Given the description of an element on the screen output the (x, y) to click on. 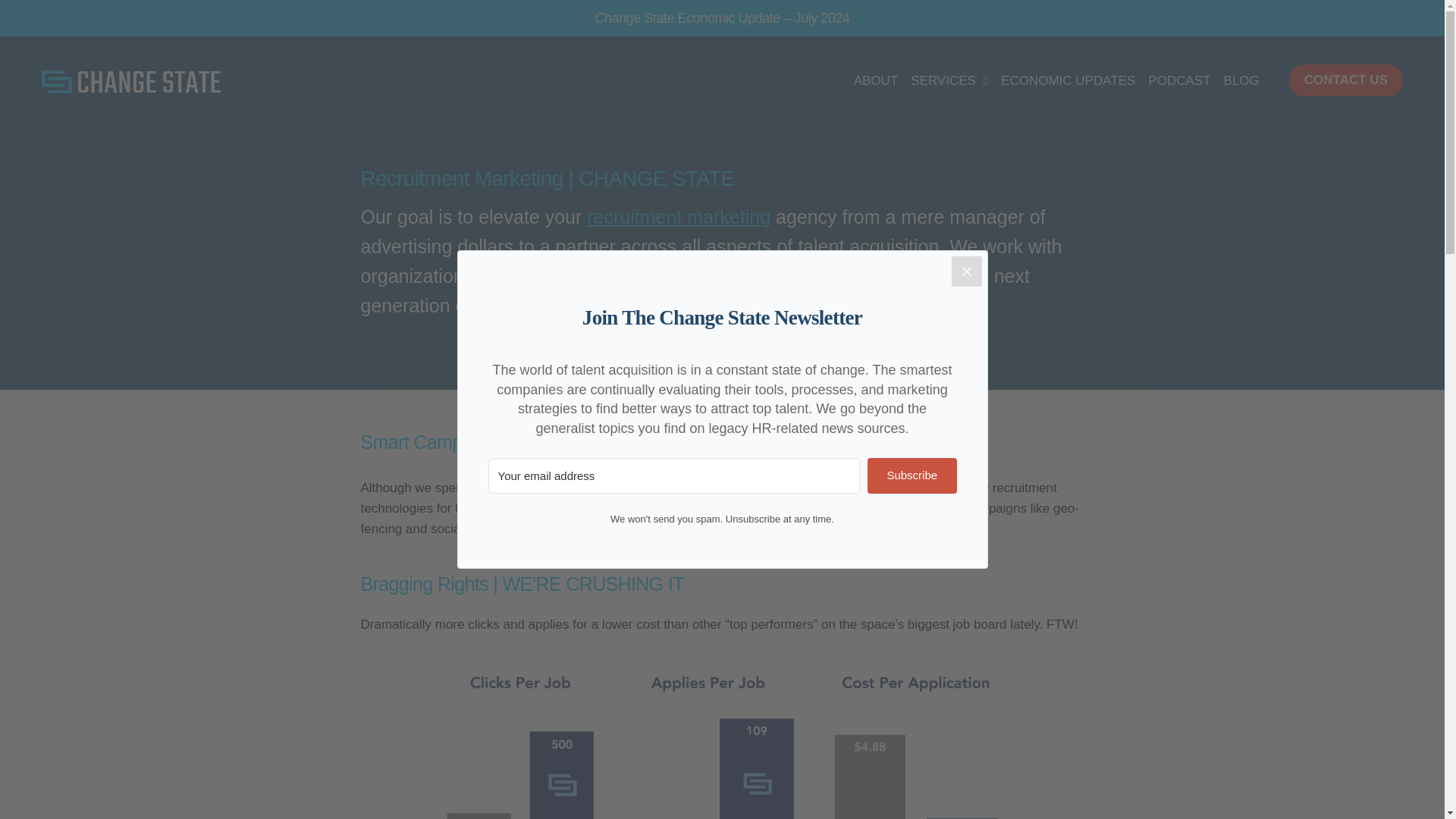
ECONOMIC UPDATES (1068, 80)
SERVICES (949, 80)
PODCAST (1178, 80)
recruitment marketing (678, 216)
CONTACT US (1345, 80)
ABOUT (875, 80)
BLOG (1241, 80)
